Given the description of an element on the screen output the (x, y) to click on. 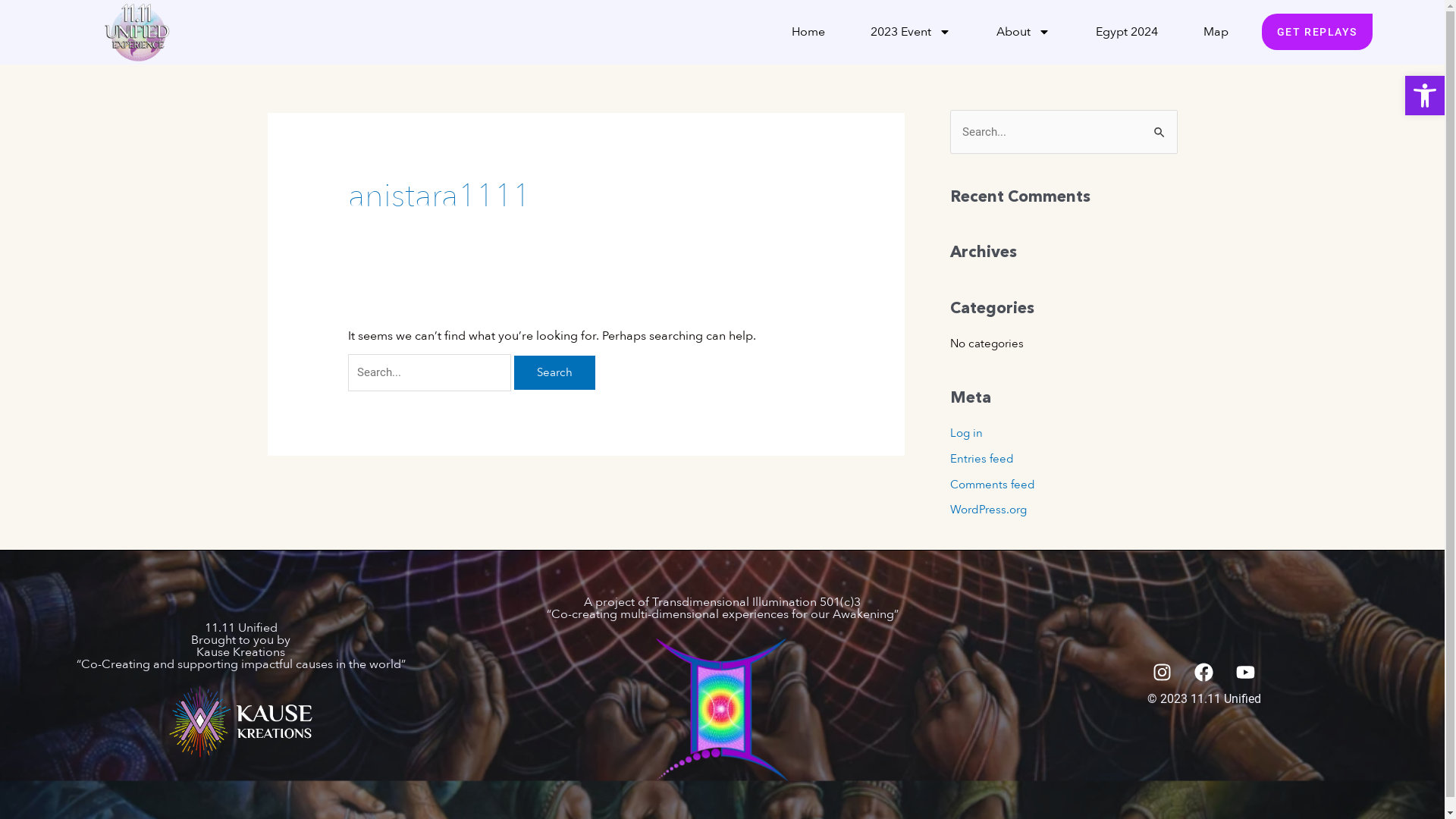
Youtube Element type: text (1245, 671)
WordPress.org Element type: text (987, 509)
Egypt 2024 Element type: text (1126, 31)
Map Element type: text (1215, 31)
Comments feed Element type: text (991, 484)
Instagram Element type: text (1161, 671)
Entries feed Element type: text (981, 458)
Open toolbar
Accessibility Tools Element type: text (1424, 95)
Facebook Element type: text (1203, 671)
About Element type: text (1022, 31)
GET REPLAYS Element type: text (1316, 31)
Search Element type: text (554, 372)
2023 Event Element type: text (910, 31)
Search Element type: text (1160, 125)
Log in Element type: text (965, 432)
Home Element type: text (808, 31)
